Given the description of an element on the screen output the (x, y) to click on. 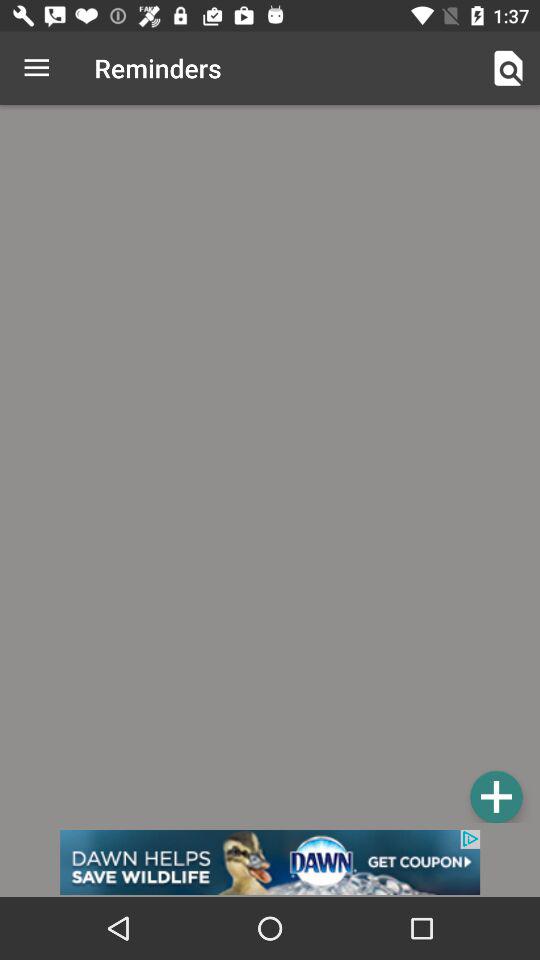
add more (496, 796)
